Given the description of an element on the screen output the (x, y) to click on. 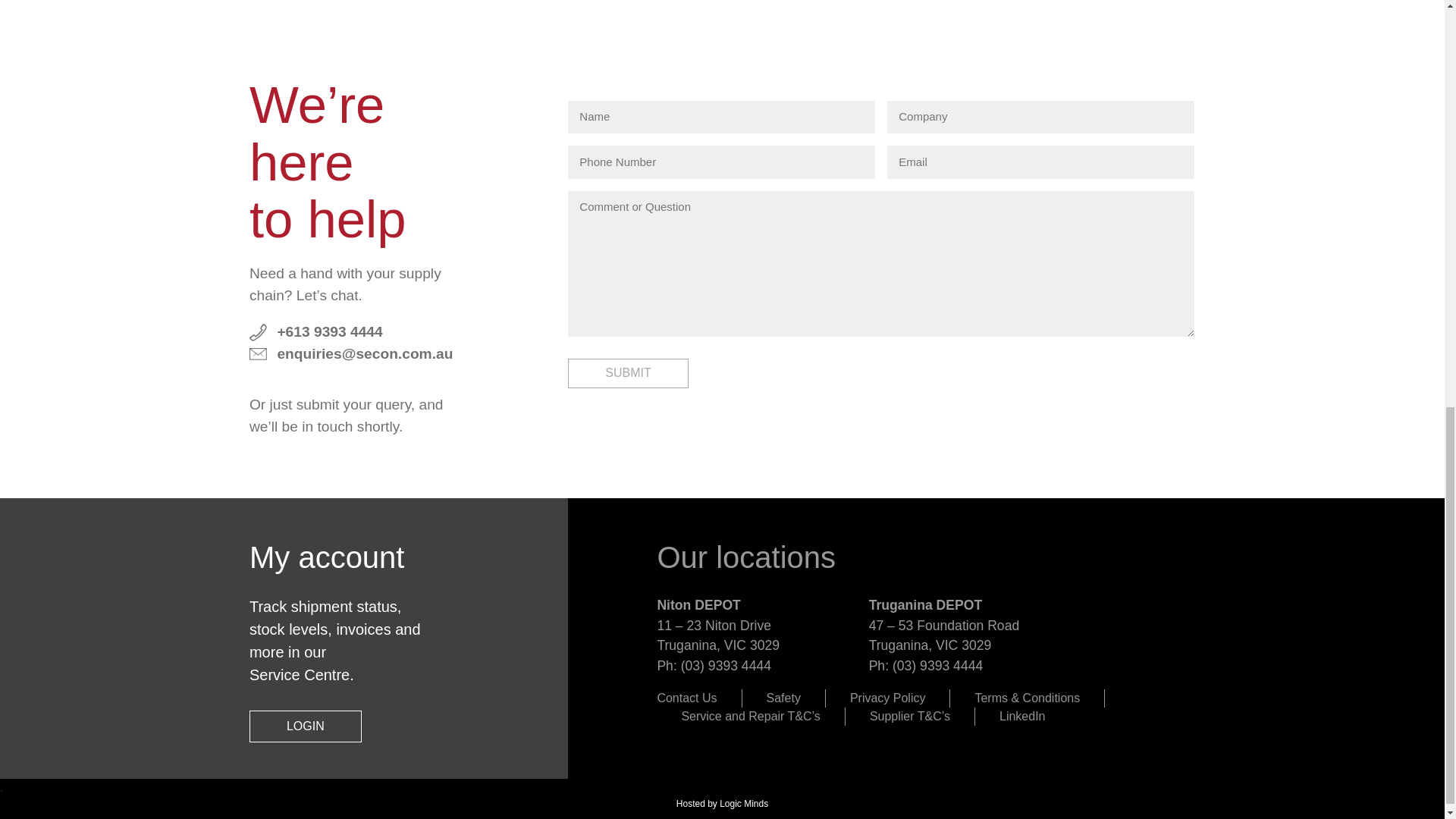
Logic Minds (743, 803)
SUBMIT (627, 373)
Privacy Policy (888, 697)
SUBMIT (627, 373)
LOGIN (304, 726)
Contact Us (686, 697)
LinkedIn (1021, 716)
Safety (783, 697)
